Given the description of an element on the screen output the (x, y) to click on. 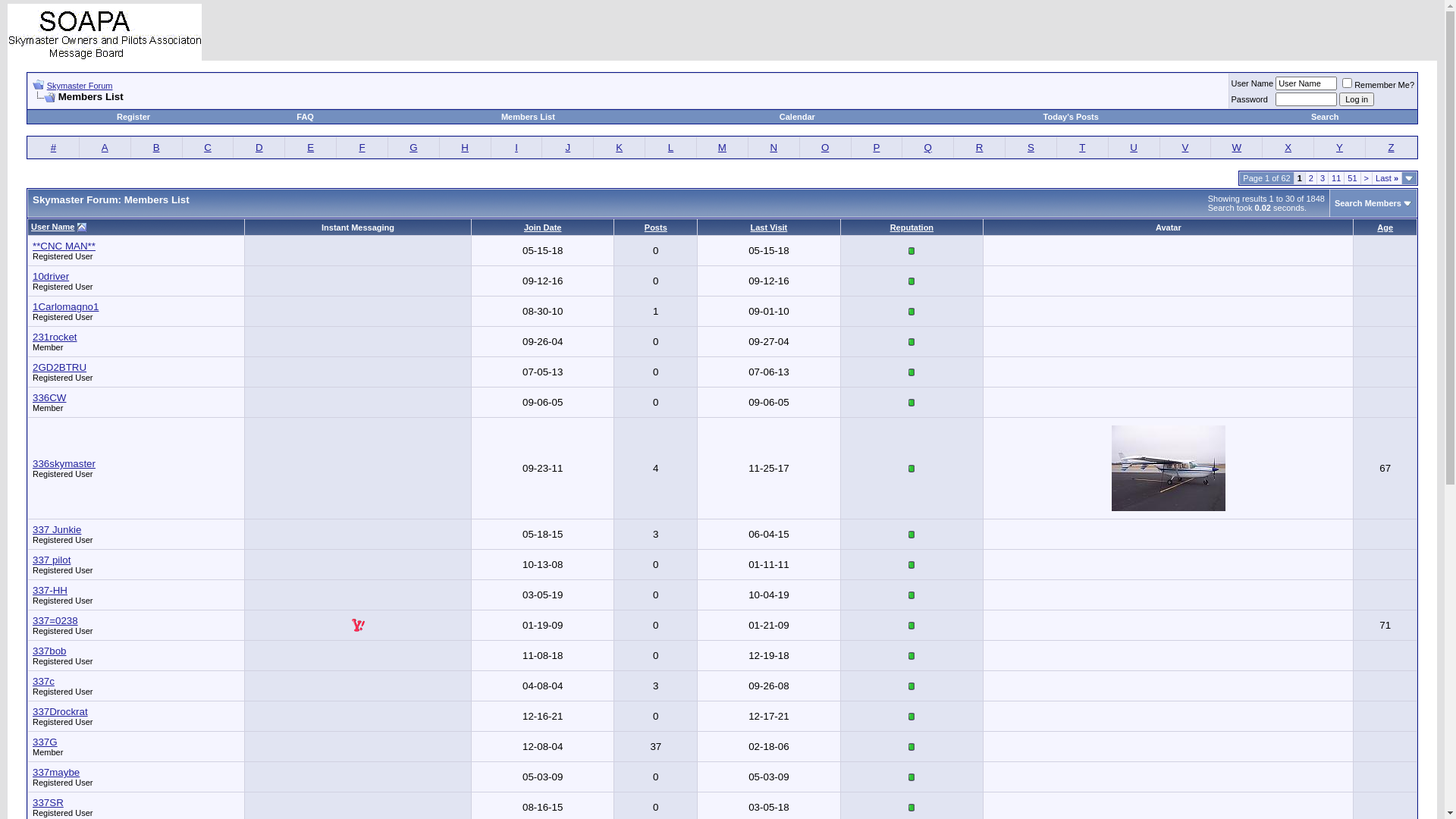
336skymaster is on a distinguished road Element type: hover (911, 468)
U Element type: text (1133, 147)
C Element type: text (207, 147)
Skymaster Forum Element type: hover (104, 31)
E Element type: text (310, 147)
231rocket Element type: text (54, 336)
Last Visit Element type: text (768, 227)
T Element type: text (1082, 147)
V Element type: text (1185, 147)
Search Members Element type: text (1367, 202)
Register Element type: text (133, 116)
11 Element type: text (1335, 177)
Send a message via Yahoo to 337=0238 Element type: hover (357, 624)
L Element type: text (670, 147)
Search Element type: text (1325, 116)
231rocket is an unknown quantity at this point Element type: hover (911, 341)
Today's Posts Element type: text (1070, 116)
**CNC MAN** is on a distinguished road Element type: hover (911, 250)
Q Element type: text (927, 147)
I Element type: text (515, 147)
Skymaster Forum Element type: text (79, 85)
1Carlomagno1 Element type: text (65, 306)
337SR Element type: text (47, 802)
X Element type: text (1287, 147)
337Drockrat is on a distinguished road Element type: hover (911, 716)
Y Element type: text (1339, 147)
337Drockrat Element type: text (59, 711)
10driver is on a distinguished road Element type: hover (911, 281)
N Element type: text (773, 147)
337maybe Element type: text (55, 772)
336CW Element type: text (48, 397)
3 Element type: text (1322, 177)
Reverse Sort Order Element type: hover (81, 227)
337SR is on a distinguished road Element type: hover (911, 807)
337 pilot Element type: text (51, 559)
337c Element type: text (43, 681)
M Element type: text (722, 147)
Join Date Element type: text (542, 227)
337 Junkie Element type: text (56, 529)
337-HH Element type: text (49, 590)
P Element type: text (875, 147)
Calendar Element type: text (797, 116)
Log in Element type: text (1356, 99)
336CW is an unknown quantity at this point Element type: hover (911, 402)
337 pilot is on a distinguished road Element type: hover (911, 564)
51 Element type: text (1351, 177)
337=0238 Element type: text (55, 620)
337maybe is on a distinguished road Element type: hover (911, 777)
Members List Element type: text (528, 116)
> Element type: text (1366, 177)
337bob Element type: text (48, 650)
J Element type: text (568, 147)
1Carlomagno1 is on a distinguished road Element type: hover (911, 311)
337-HH is on a distinguished road Element type: hover (911, 595)
2 Element type: text (1310, 177)
Reload this Page Element type: hover (43, 97)
K Element type: text (618, 147)
**CNC MAN** Element type: text (63, 245)
O Element type: text (824, 147)
Posts Element type: text (655, 227)
337c is an unknown quantity at this point Element type: hover (911, 686)
337=0238 is on a distinguished road Element type: hover (911, 625)
G Element type: text (413, 147)
A Element type: text (104, 147)
D Element type: text (259, 147)
337 Junkie is on a distinguished road Element type: hover (911, 534)
337G Element type: text (44, 741)
F Element type: text (361, 147)
337bob is on a distinguished road Element type: hover (911, 655)
S Element type: text (1030, 147)
336skymaster's Avatar Element type: hover (1168, 468)
Age Element type: text (1385, 227)
336skymaster Element type: text (63, 463)
User Name Element type: text (52, 226)
B Element type: text (156, 147)
FAQ Element type: text (304, 116)
W Element type: text (1237, 147)
H Element type: text (464, 147)
R Element type: text (979, 147)
2GD2BTRU Element type: text (59, 367)
337G is an unknown quantity at this point Element type: hover (911, 746)
10driver Element type: text (50, 276)
Z Element type: text (1390, 147)
Reputation Element type: text (911, 227)
Go Back Element type: hover (37, 84)
2GD2BTRU is on a distinguished road Element type: hover (911, 372)
# Element type: text (53, 147)
